Given the description of an element on the screen output the (x, y) to click on. 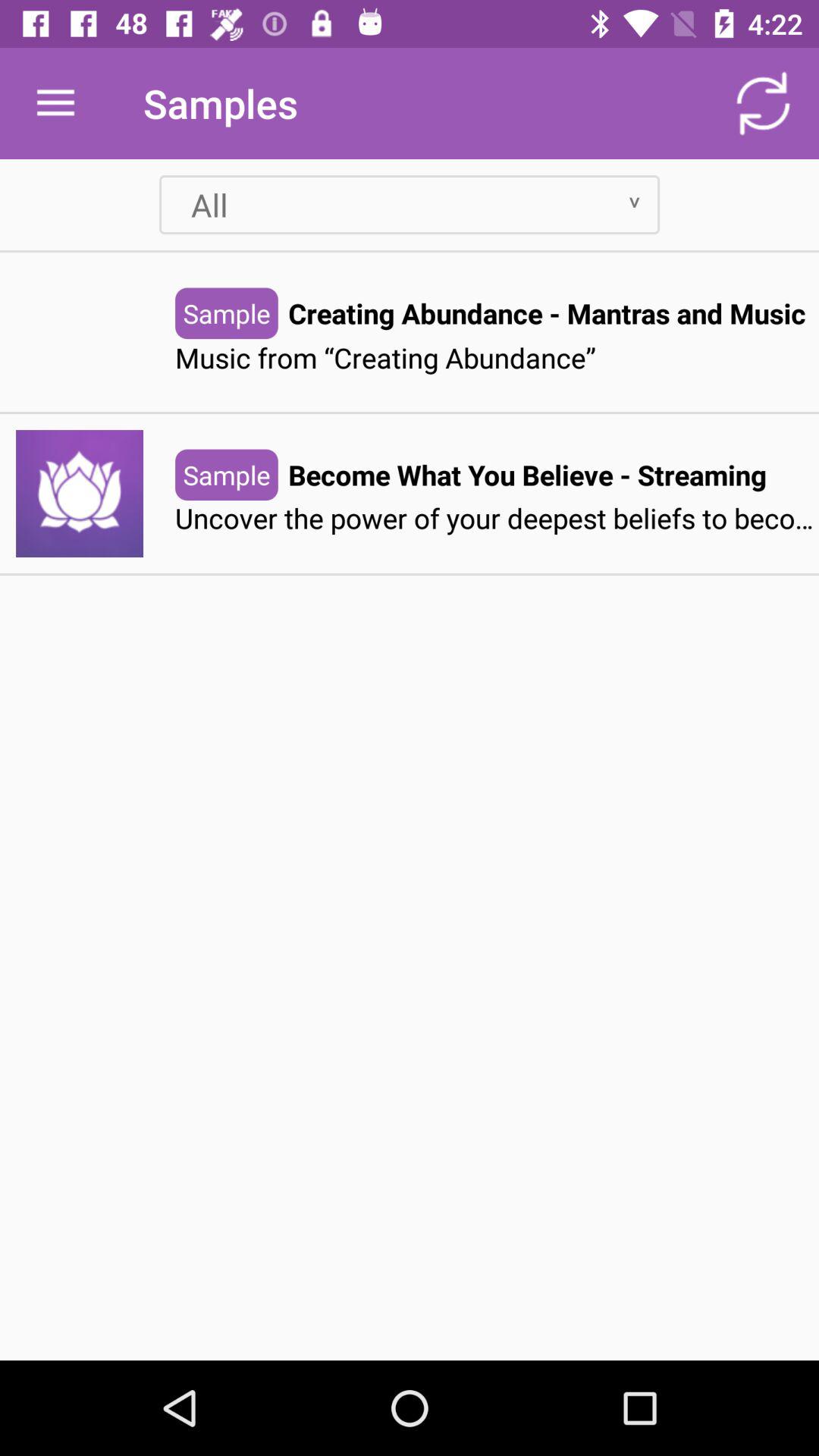
select the icon to the right of sample (527, 474)
